Given the description of an element on the screen output the (x, y) to click on. 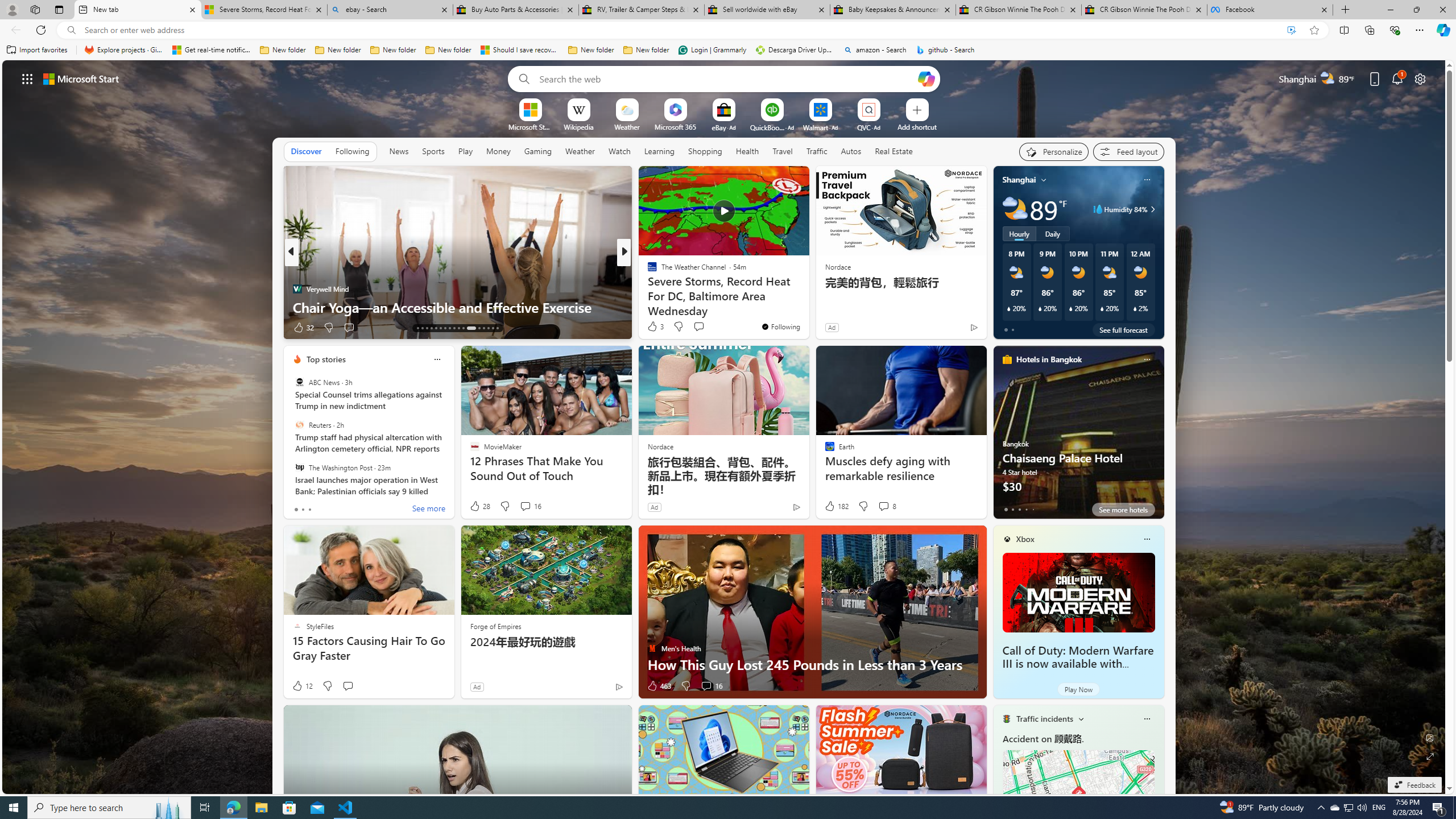
Page settings (1420, 78)
Top stories (325, 359)
Xbox (1025, 538)
App launcher (27, 78)
Login | Grammarly (712, 49)
You're following The Weather Channel (780, 326)
View comments 16 Comment (710, 685)
See more hotels (1123, 509)
Health (746, 151)
Learning (658, 151)
